Given the description of an element on the screen output the (x, y) to click on. 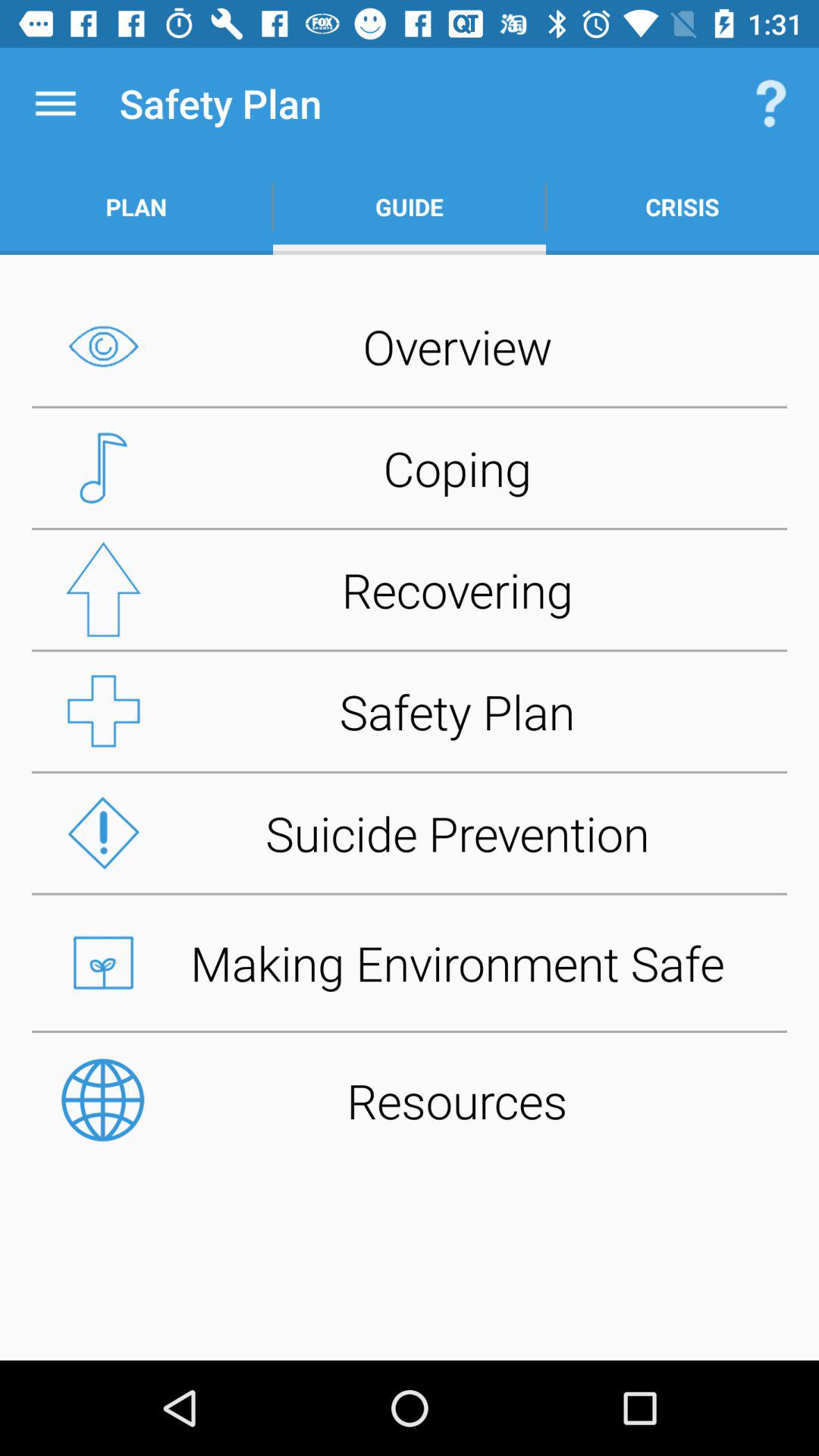
flip to the overview button (409, 346)
